Given the description of an element on the screen output the (x, y) to click on. 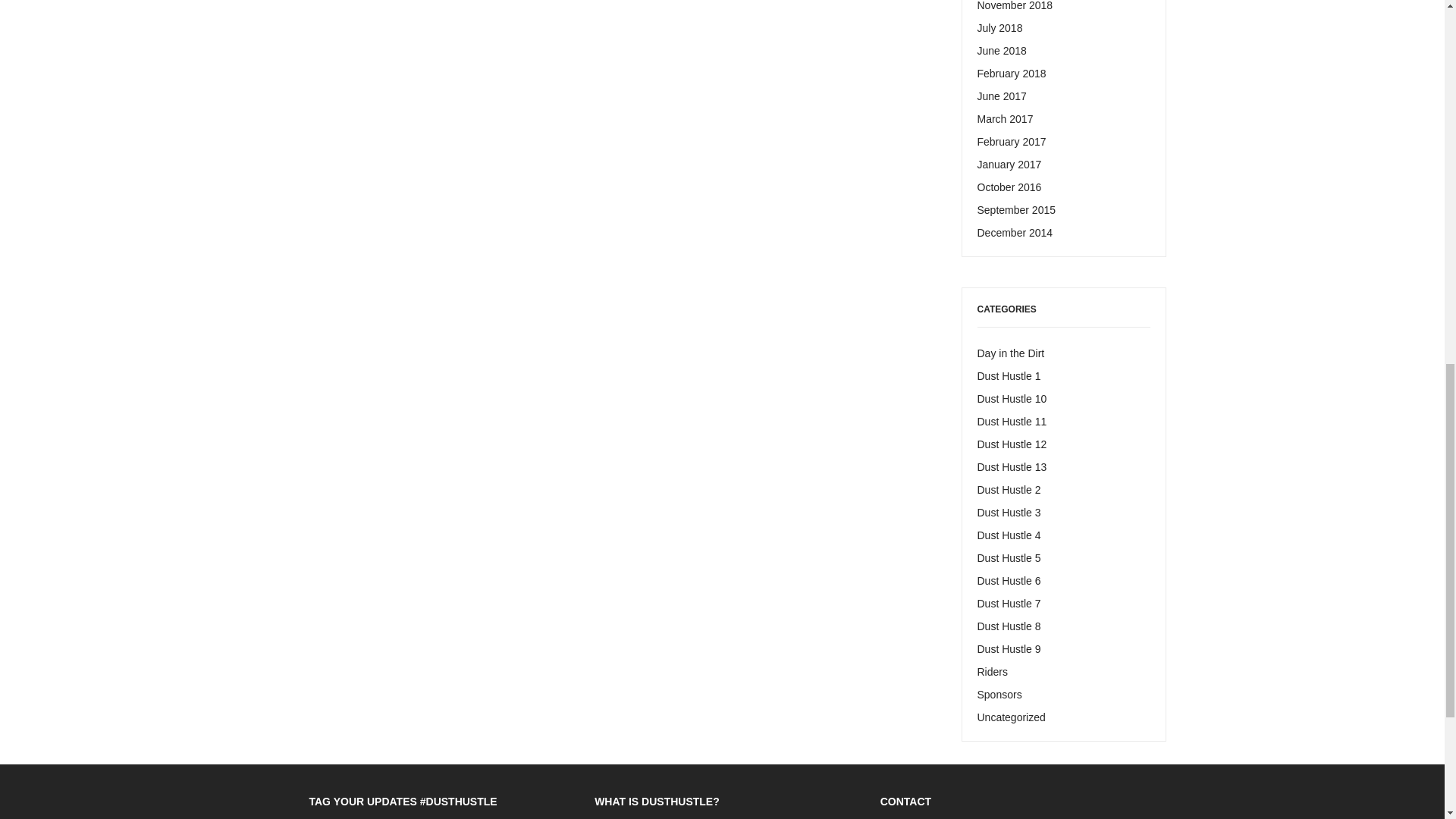
June 2018 (1001, 50)
July 2018 (999, 28)
November 2018 (1014, 5)
